Given the description of an element on the screen output the (x, y) to click on. 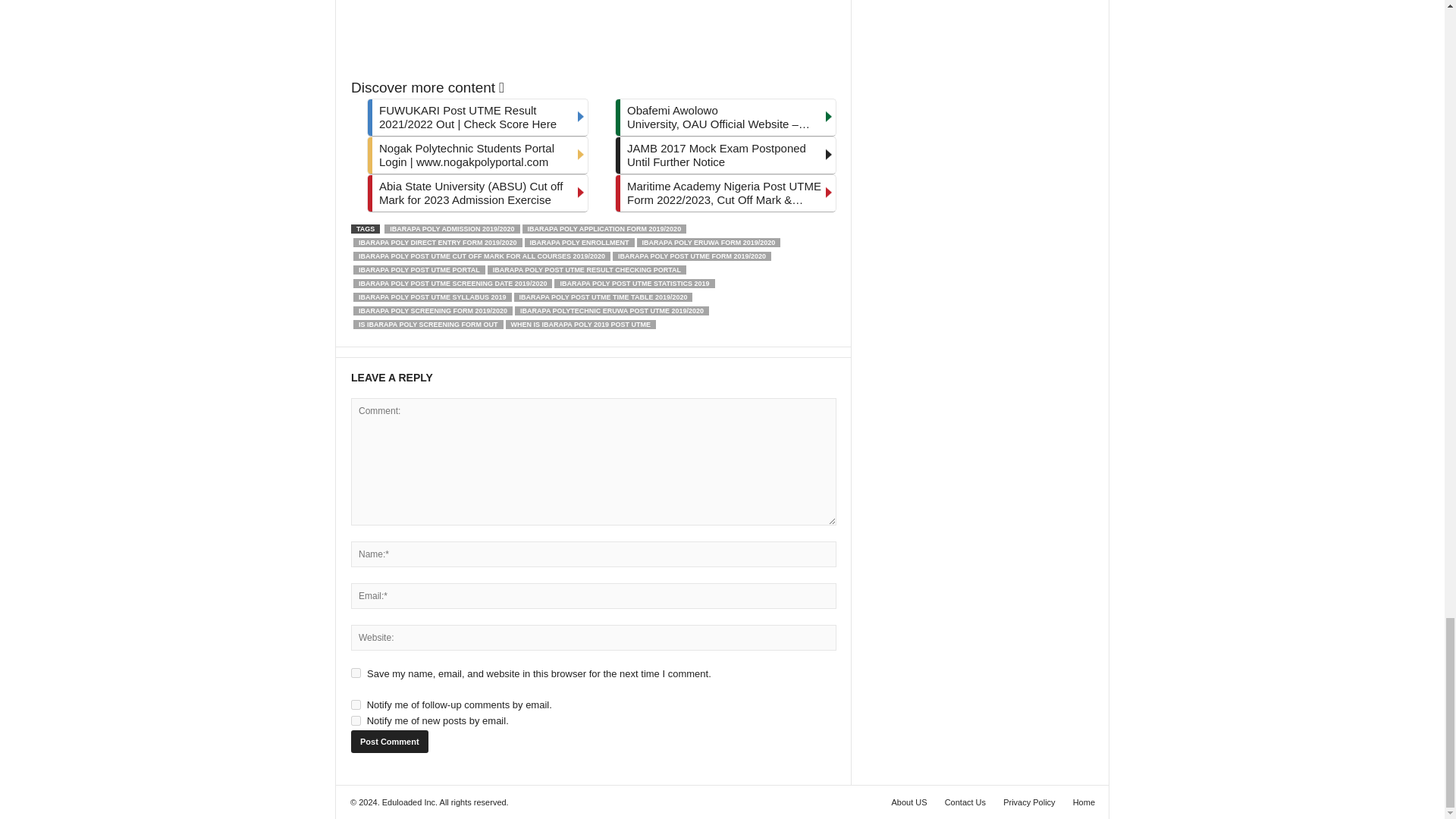
IBARAPA POLY POST UTME SYLLABUS 2019 (432, 297)
IBARAPA POLY POST UTME STATISTICS 2019 (634, 283)
Post Comment (389, 741)
JAMB 2017 Mock Exam Postponed Until Further Notice (724, 155)
subscribe (355, 705)
IBARAPA POLY POST UTME RESULT CHECKING PORTAL (586, 269)
Advertisement (592, 35)
IBARAPA POLY ENROLLMENT (579, 242)
IBARAPA POLY POST UTME PORTAL (418, 269)
subscribe (355, 720)
